Given the description of an element on the screen output the (x, y) to click on. 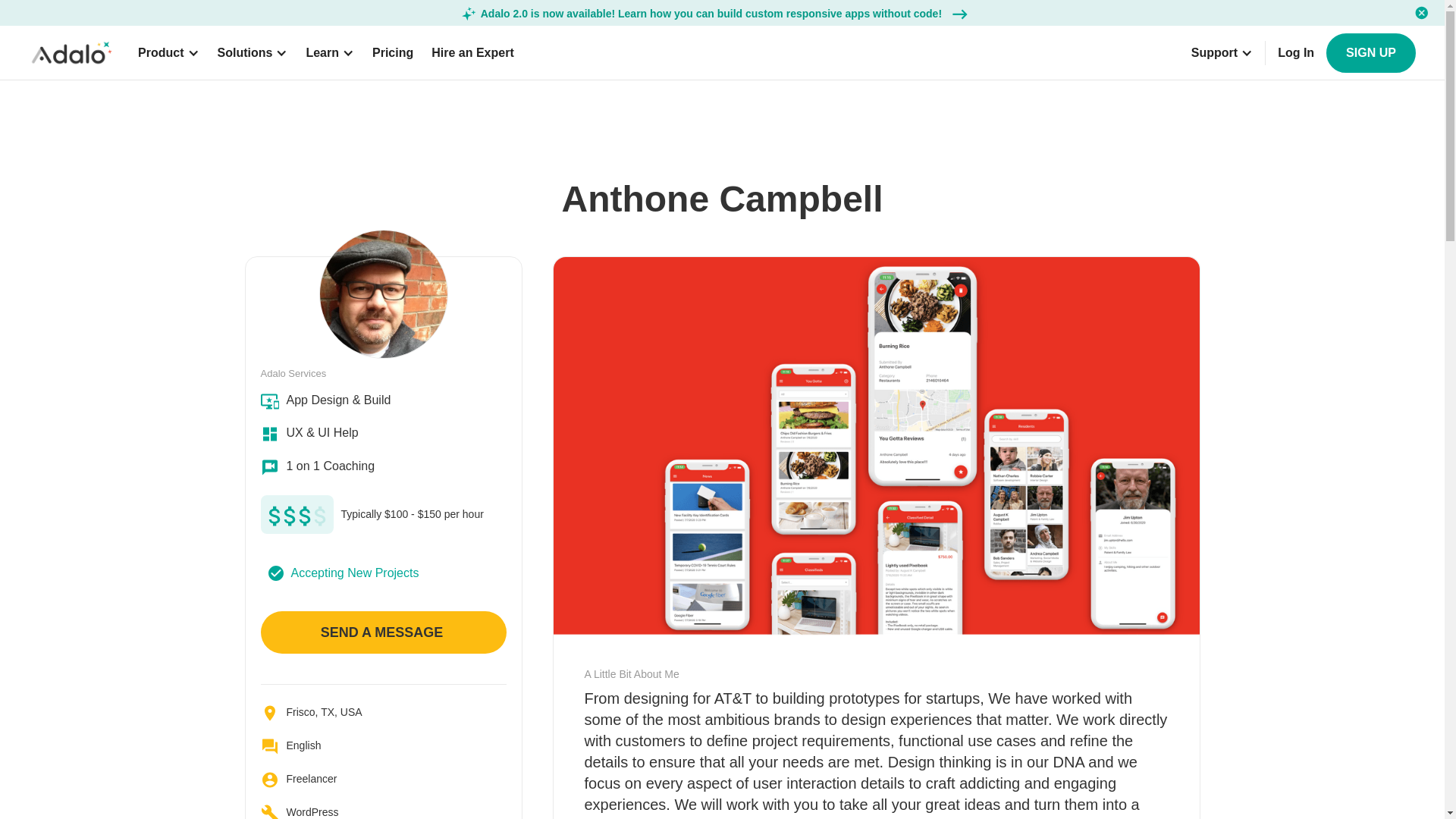
Hire an Expert (472, 52)
SIGN UP (1370, 52)
SEND A MESSAGE  (383, 631)
Log In (1295, 52)
Pricing (392, 52)
